Given the description of an element on the screen output the (x, y) to click on. 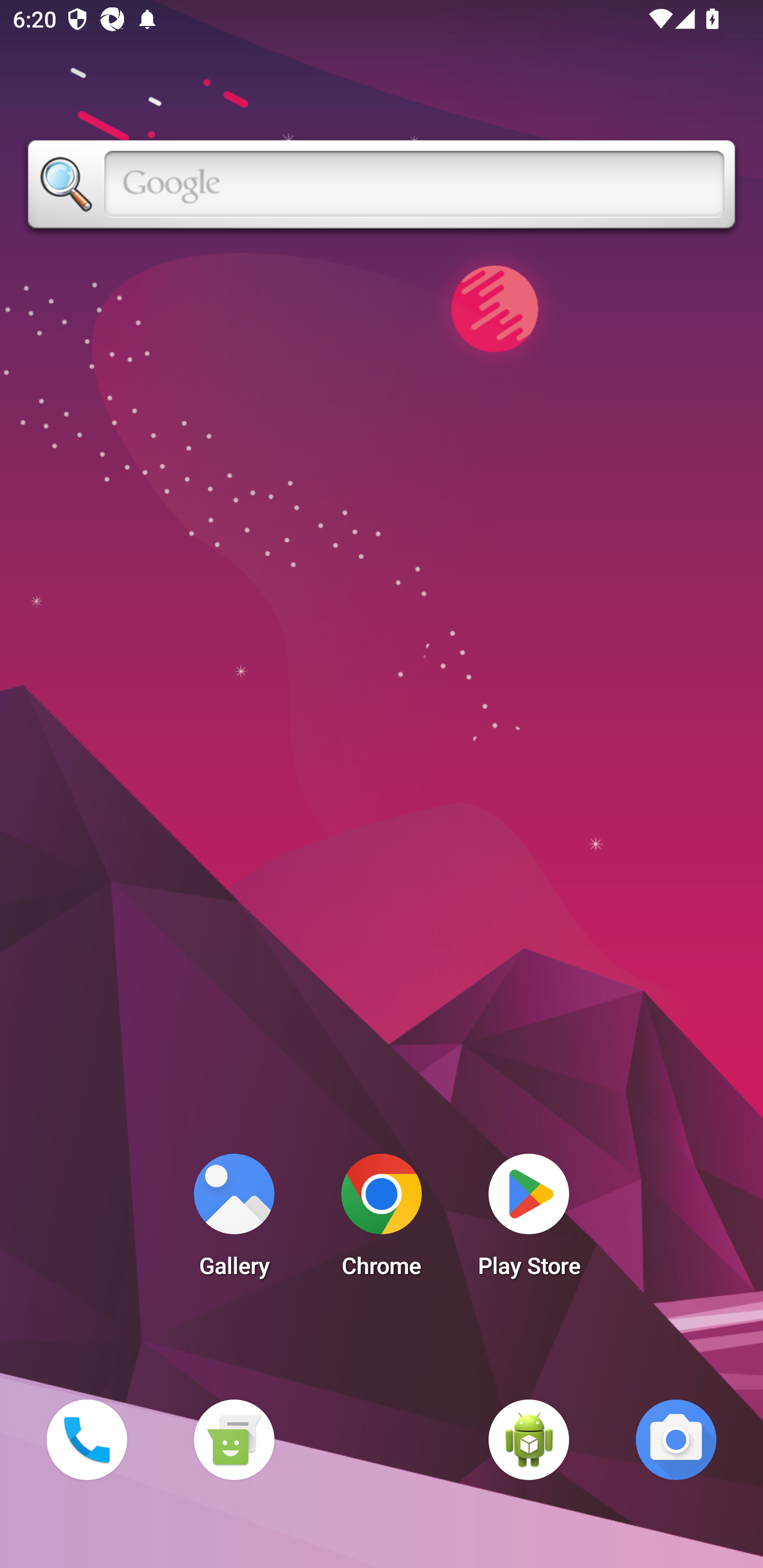
Gallery (233, 1220)
Chrome (381, 1220)
Play Store (528, 1220)
Phone (86, 1439)
Messaging (233, 1439)
WebView Browser Tester (528, 1439)
Camera (676, 1439)
